Given the description of an element on the screen output the (x, y) to click on. 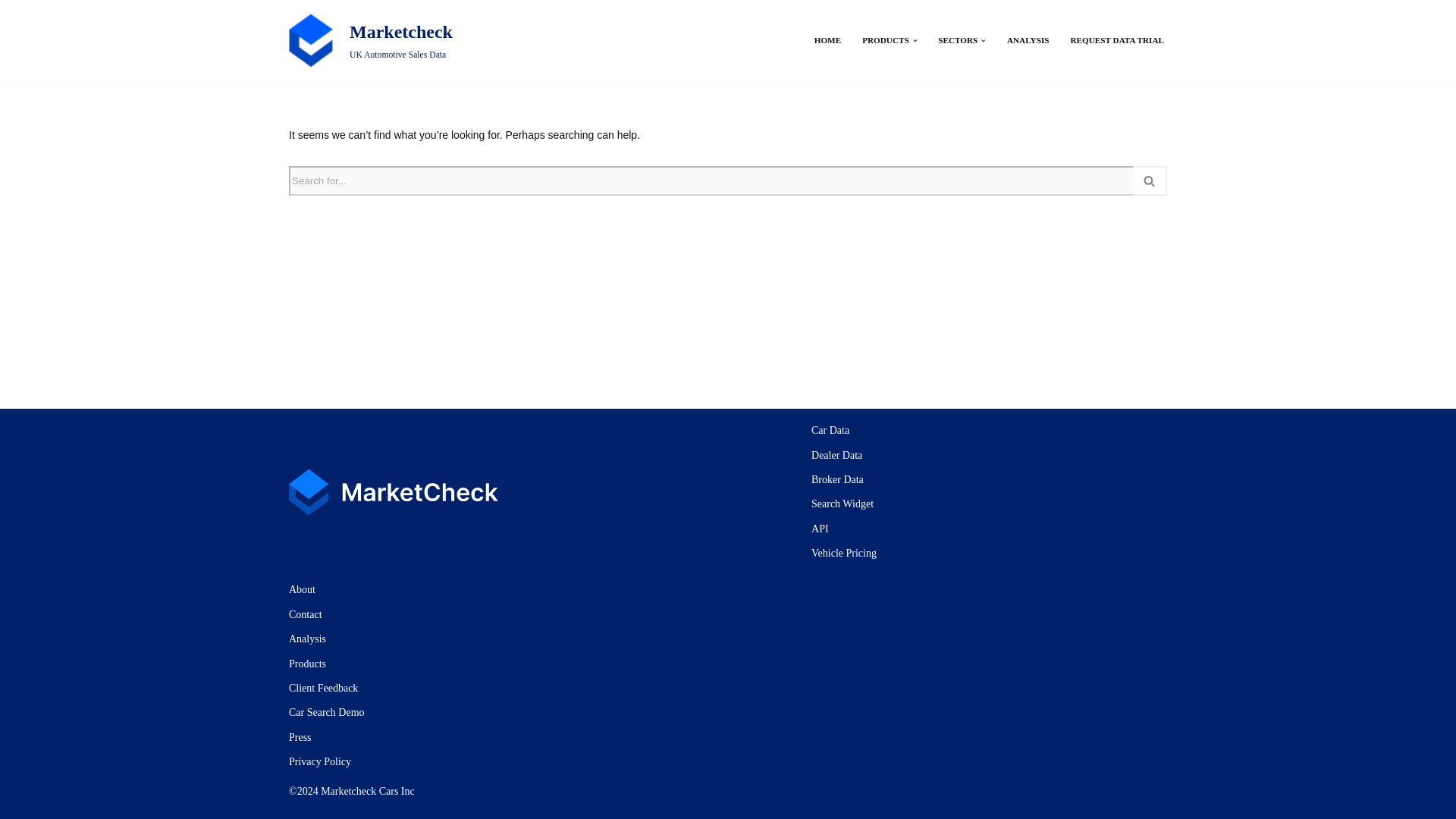
SECTORS (956, 40)
REQUEST DATA TRIAL (1116, 40)
UK Automotive Data Products (884, 40)
ANALYSIS (1028, 40)
Marketcheck UK (827, 40)
Skip to content (11, 31)
PRODUCTS (884, 40)
HOME (370, 40)
Sectors (827, 40)
